Given the description of an element on the screen output the (x, y) to click on. 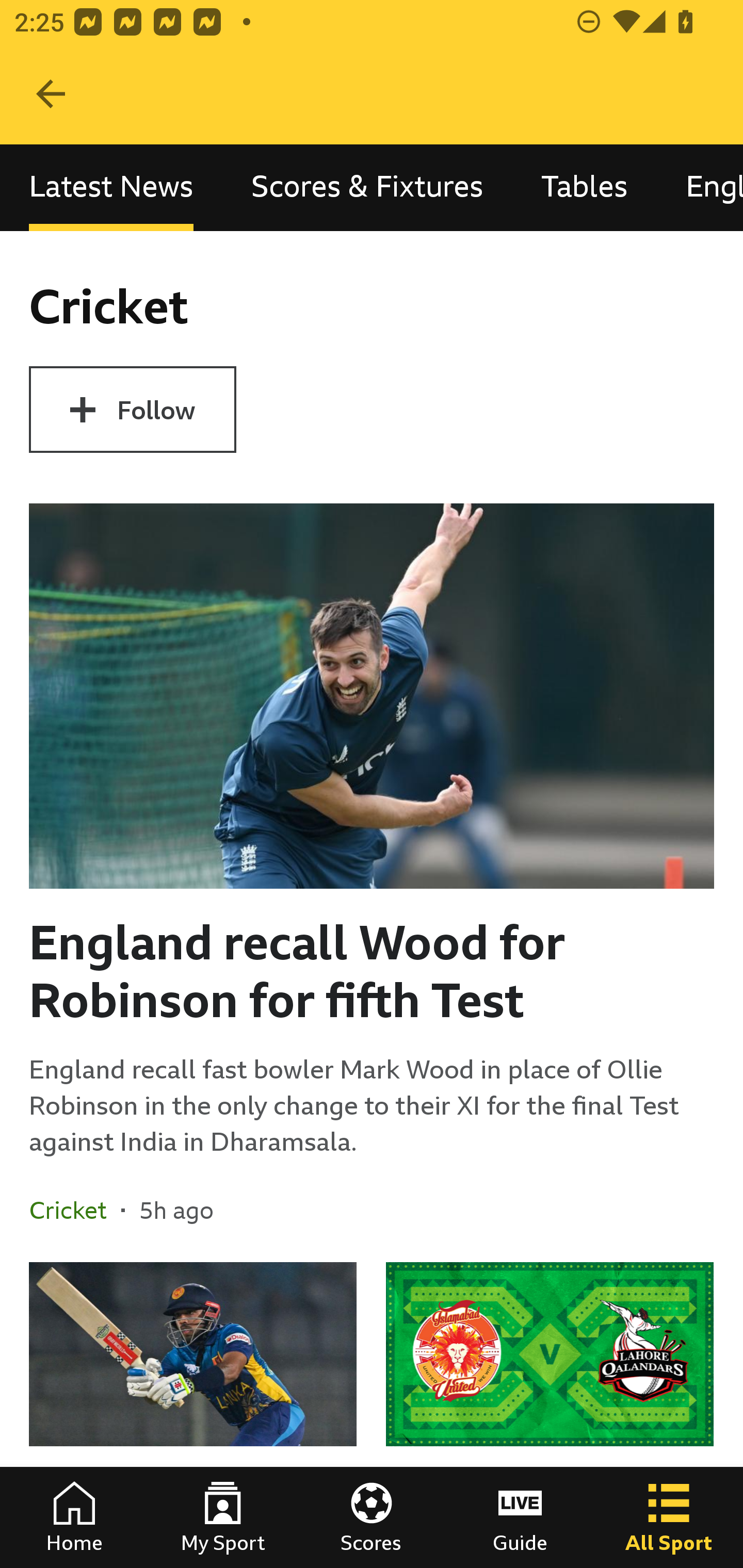
Navigate up (50, 93)
Latest News, selected Latest News (111, 187)
Scores & Fixtures (367, 187)
Tables (584, 187)
Follow Cricket Follow (132, 409)
Cricket In the section Cricket (74, 1209)
Bangladesh v Sri Lanka - second T20 scorecard (192, 1415)
Home (74, 1517)
My Sport (222, 1517)
Scores (371, 1517)
Guide (519, 1517)
